Given the description of an element on the screen output the (x, y) to click on. 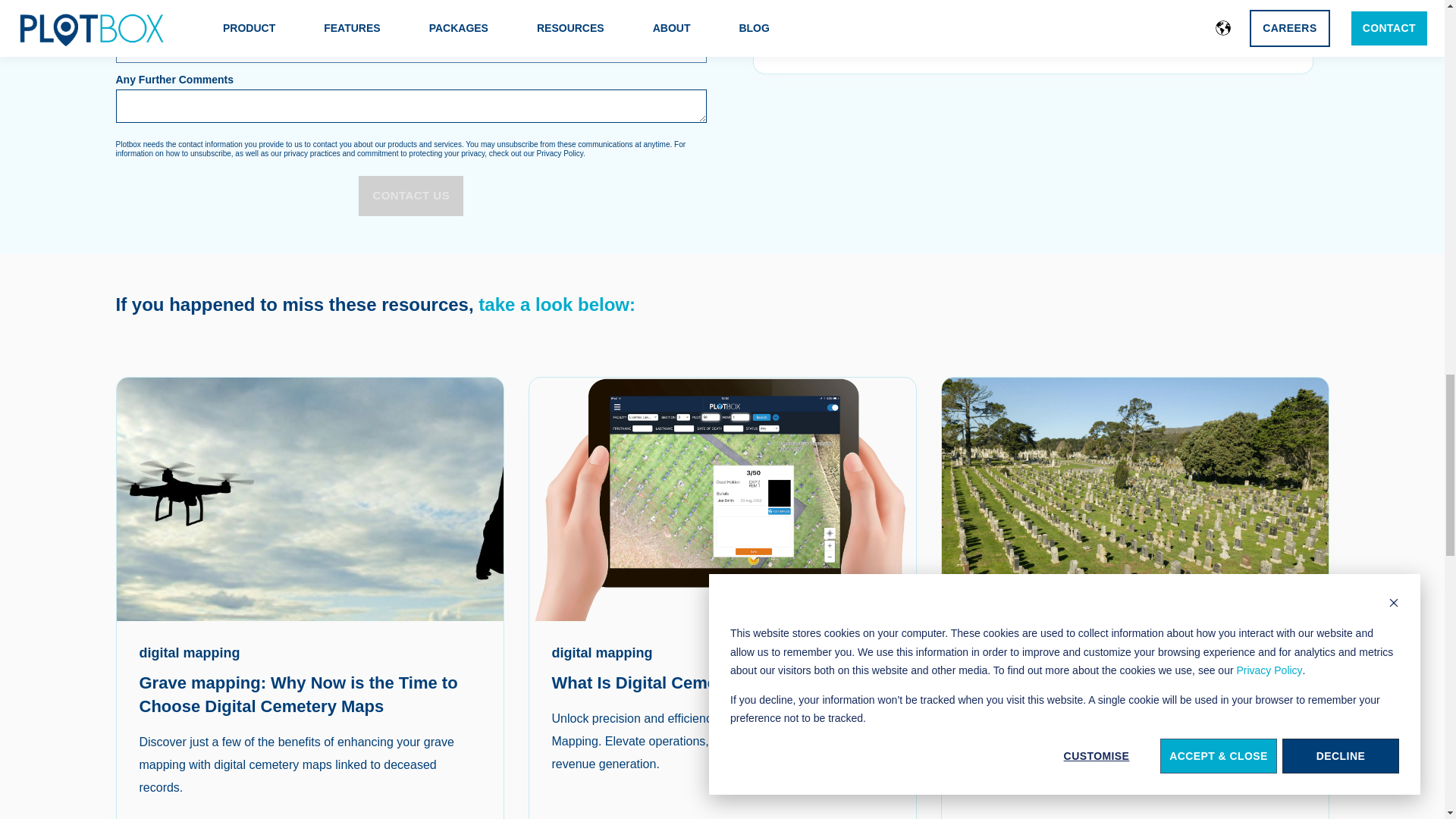
CONTACT US (410, 196)
